Given the description of an element on the screen output the (x, y) to click on. 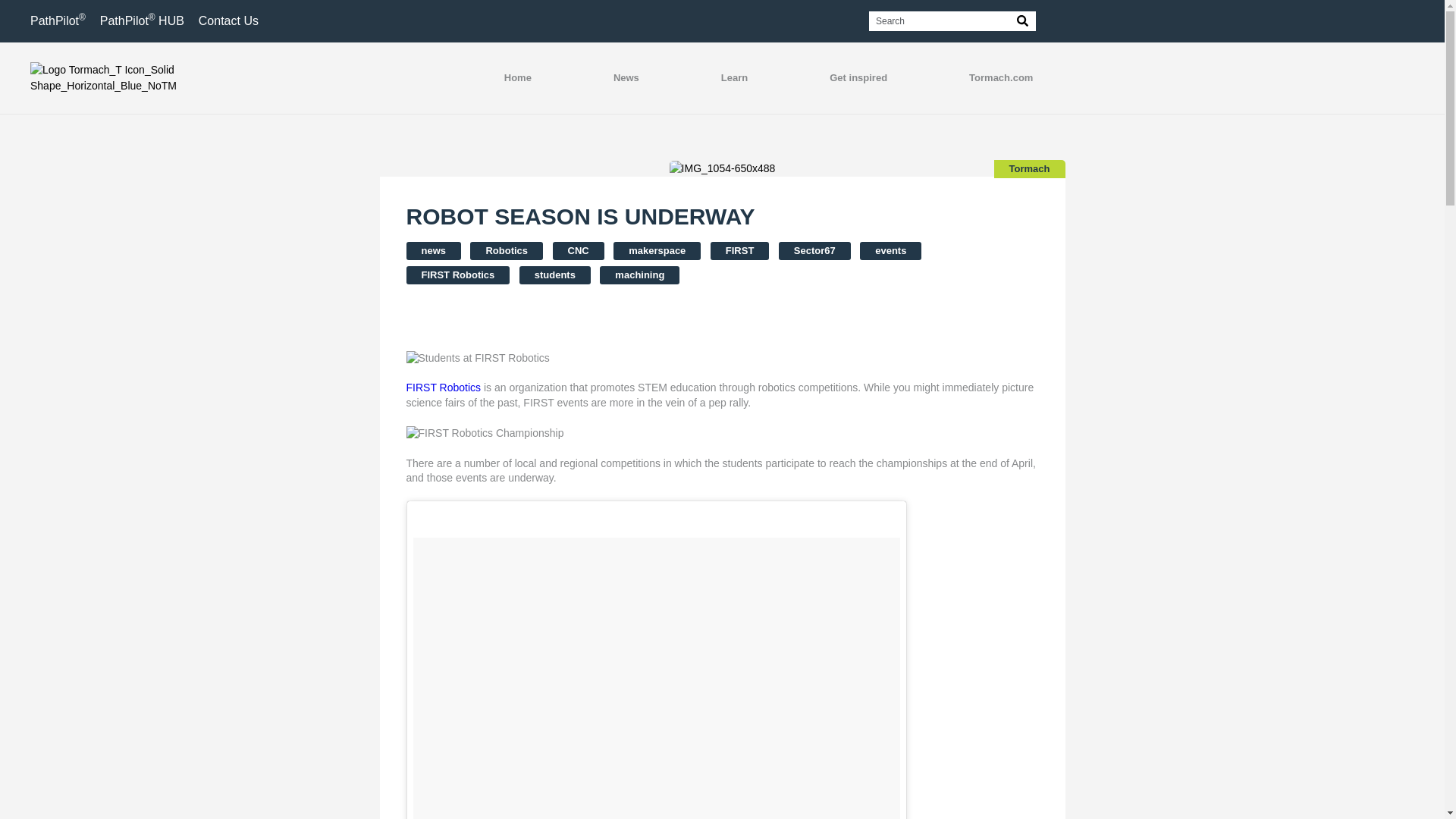
news (433, 250)
FIRST (740, 250)
Tormach (1029, 168)
Tormach.com (1000, 77)
Robotics (506, 250)
Sector67 (814, 250)
Contact Us (228, 20)
makerspace (656, 250)
CNC (578, 250)
machining (639, 275)
students (555, 275)
FIRST Robotics (458, 275)
events (890, 250)
